Given the description of an element on the screen output the (x, y) to click on. 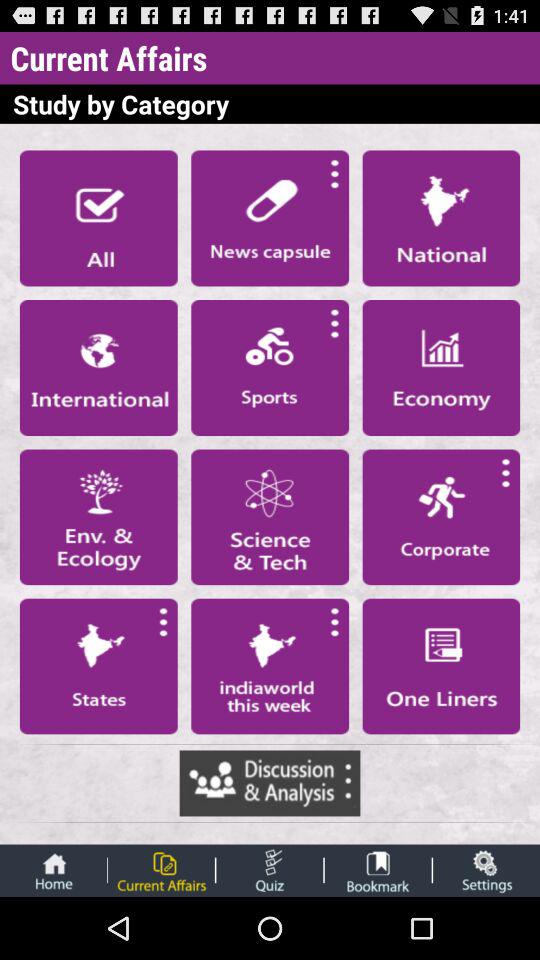
open new category (441, 367)
